Given the description of an element on the screen output the (x, y) to click on. 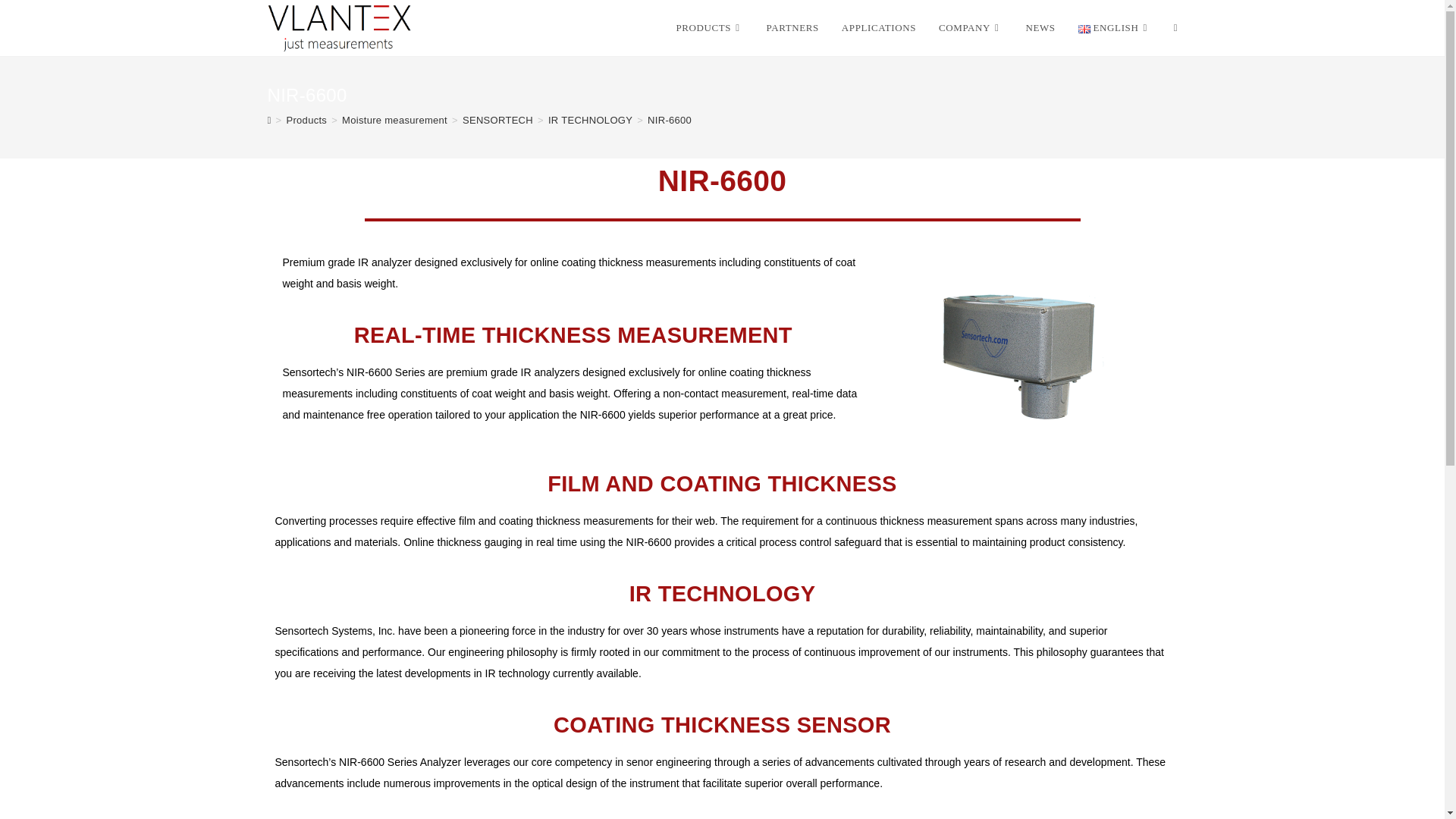
PRODUCTS (708, 28)
